Given the description of an element on the screen output the (x, y) to click on. 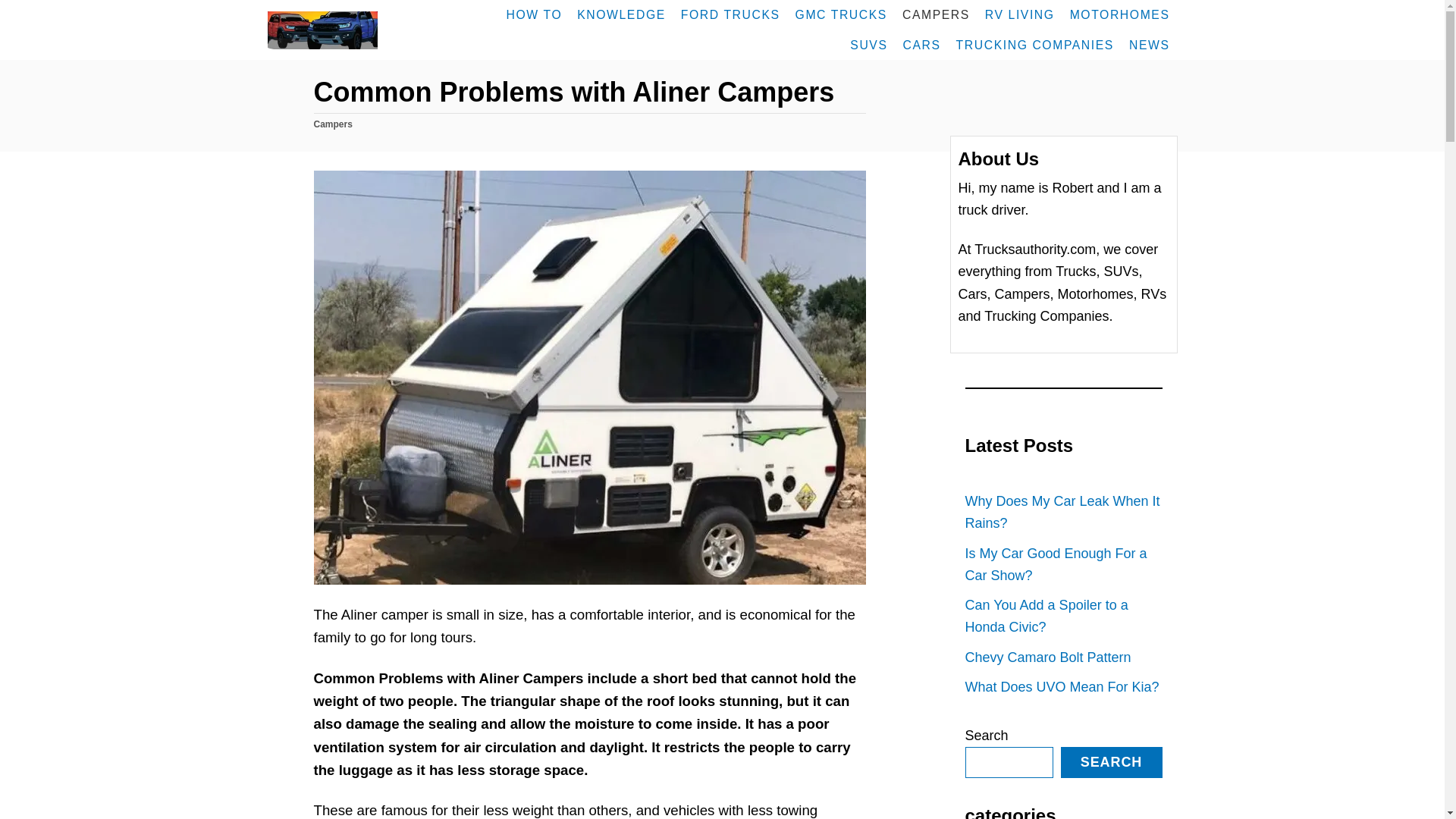
NEWS (1149, 45)
RV LIVING (1019, 15)
TRUCKING COMPANIES (1035, 45)
CAMPERS (935, 15)
Is My Car Good Enough For a Car Show? (1062, 564)
MOTORHOMES (1119, 15)
Campers (333, 123)
HOW TO (534, 15)
KNOWLEDGE (620, 15)
TrucksAuthority.com (354, 30)
